Given the description of an element on the screen output the (x, y) to click on. 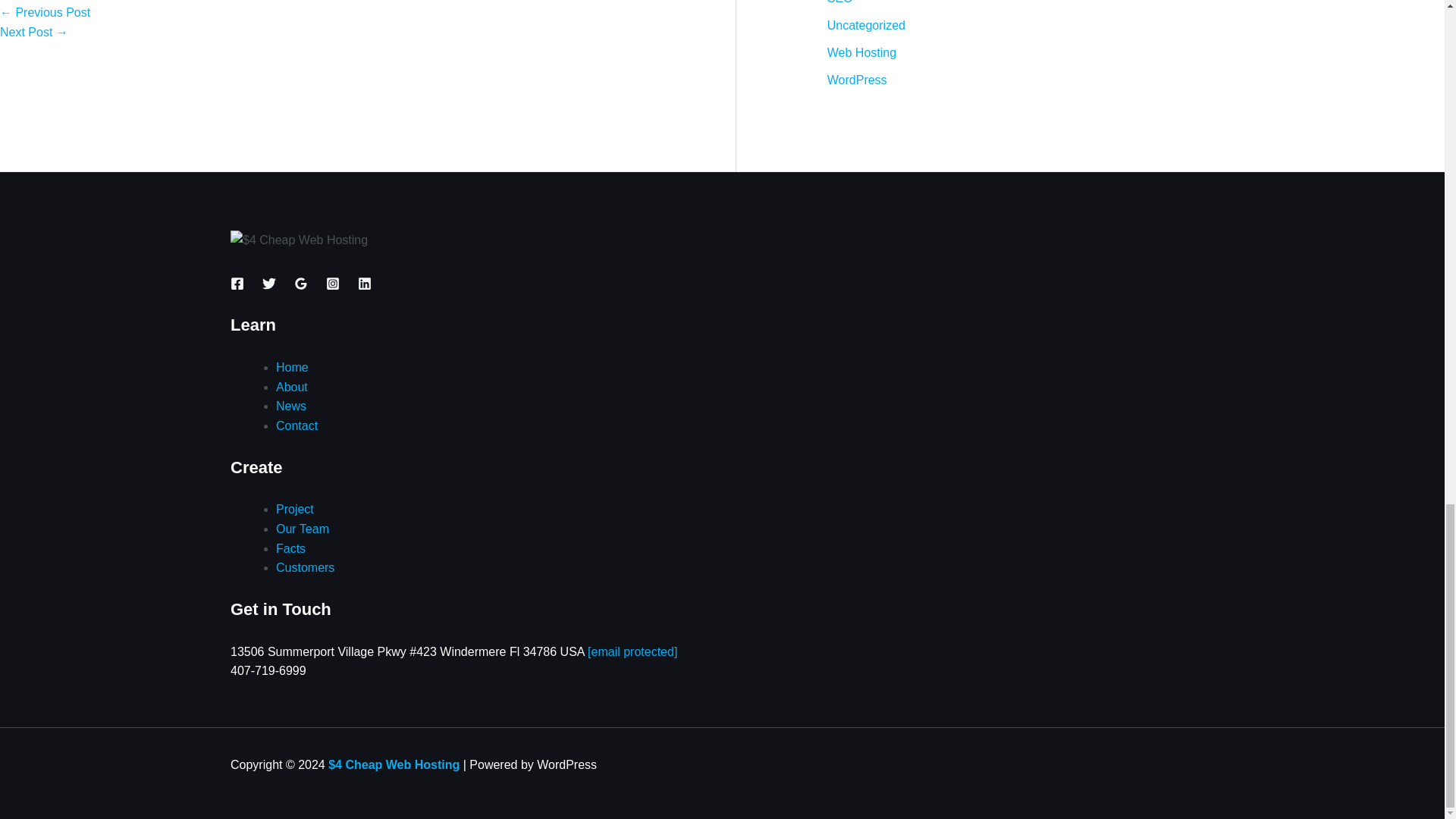
The Best Web Hosting Providers of 2023 (34, 31)
Submit Website to Google - Super-Fast! (45, 11)
Google Reviews (300, 283)
